Given the description of an element on the screen output the (x, y) to click on. 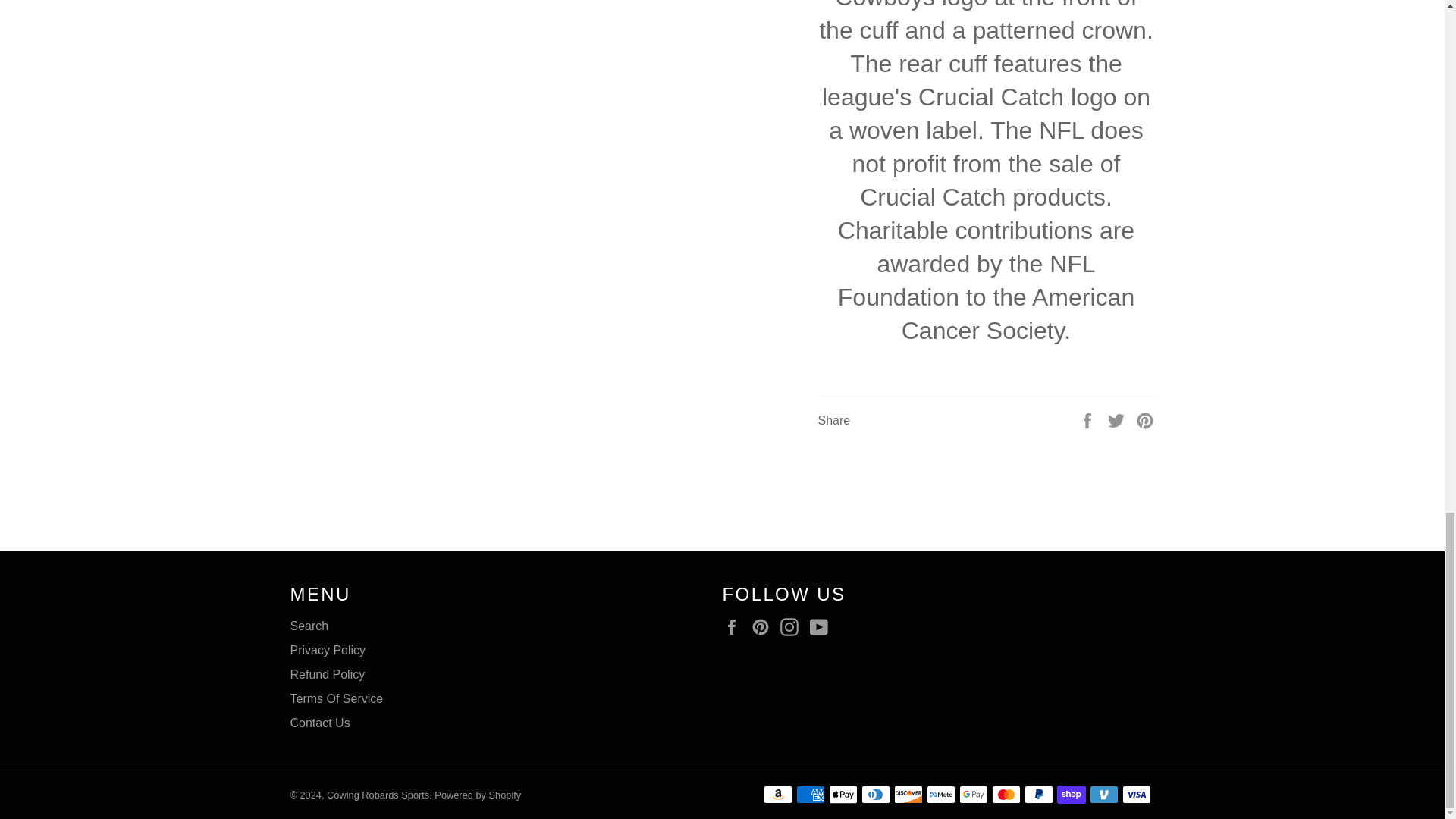
Cowing Robards Sports on YouTube (822, 627)
Pin on Pinterest (1144, 419)
Tweet on Twitter (1117, 419)
Cowing Robards Sports on Facebook (735, 627)
Share on Facebook (1088, 419)
Cowing Robards Sports on Instagram (793, 627)
Cowing Robards Sports on Pinterest (764, 627)
